Given the description of an element on the screen output the (x, y) to click on. 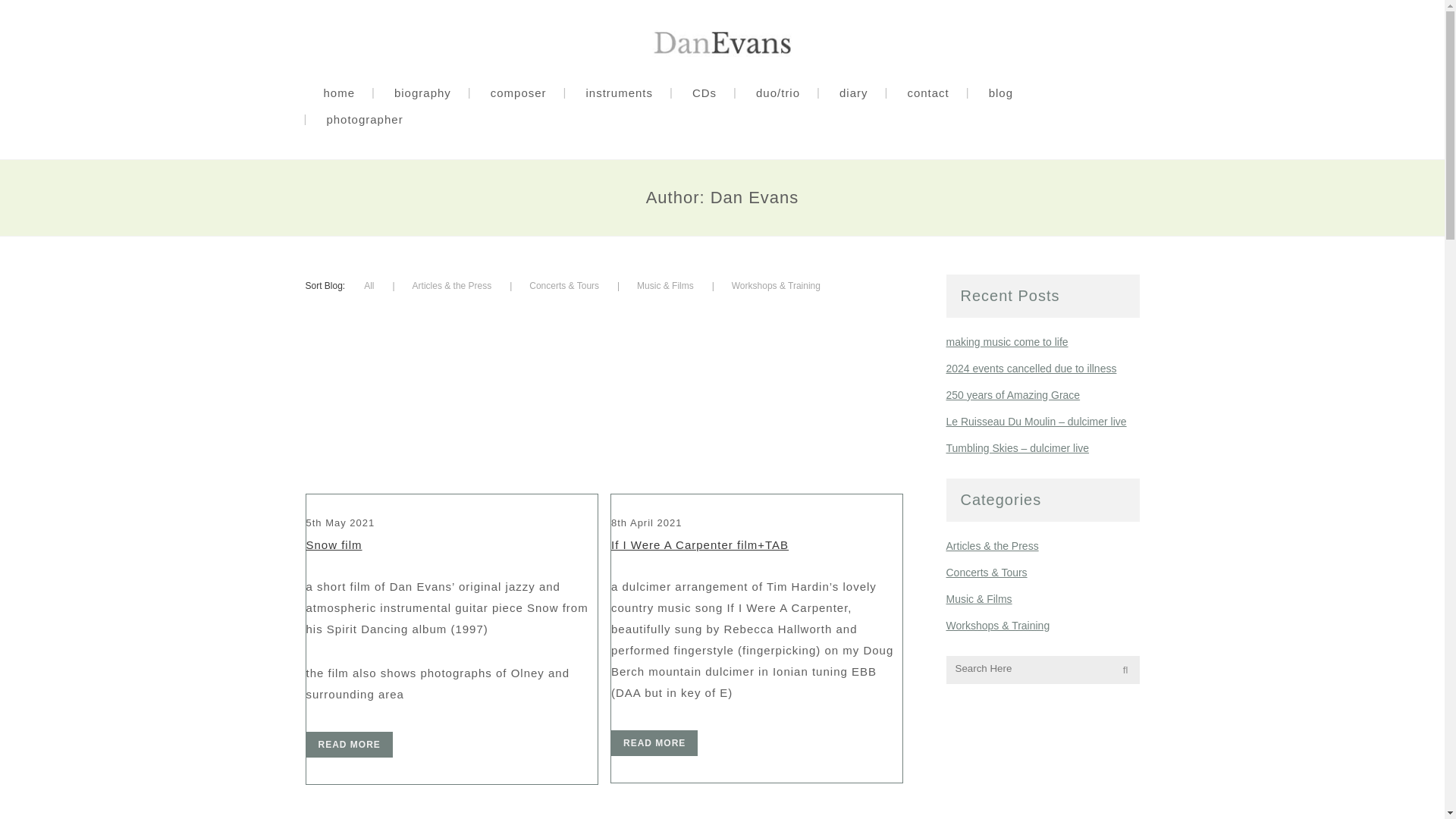
photographer (363, 119)
diary (853, 92)
biography (421, 92)
instruments (619, 92)
Snow film (333, 544)
READ MORE (349, 744)
CDs (704, 92)
blog (1000, 92)
home (338, 92)
contact (927, 92)
composer (517, 92)
READ MORE (654, 742)
